Given the description of an element on the screen output the (x, y) to click on. 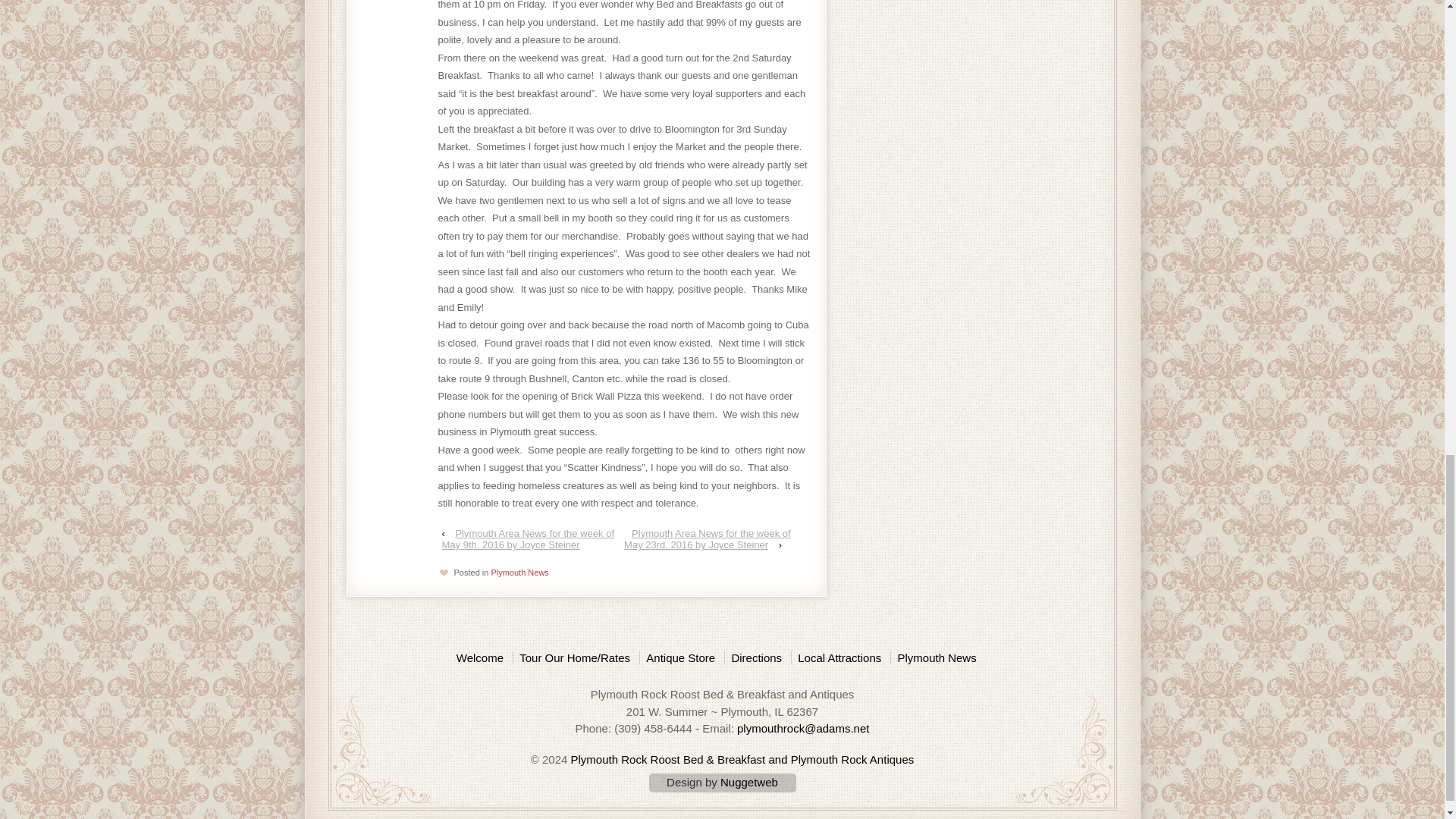
Nuggetweb (748, 781)
Directions (755, 657)
Antique Store (679, 657)
Welcome (483, 657)
Plymouth News (519, 572)
Local Attractions (838, 657)
Plymouth News (935, 657)
